Given the description of an element on the screen output the (x, y) to click on. 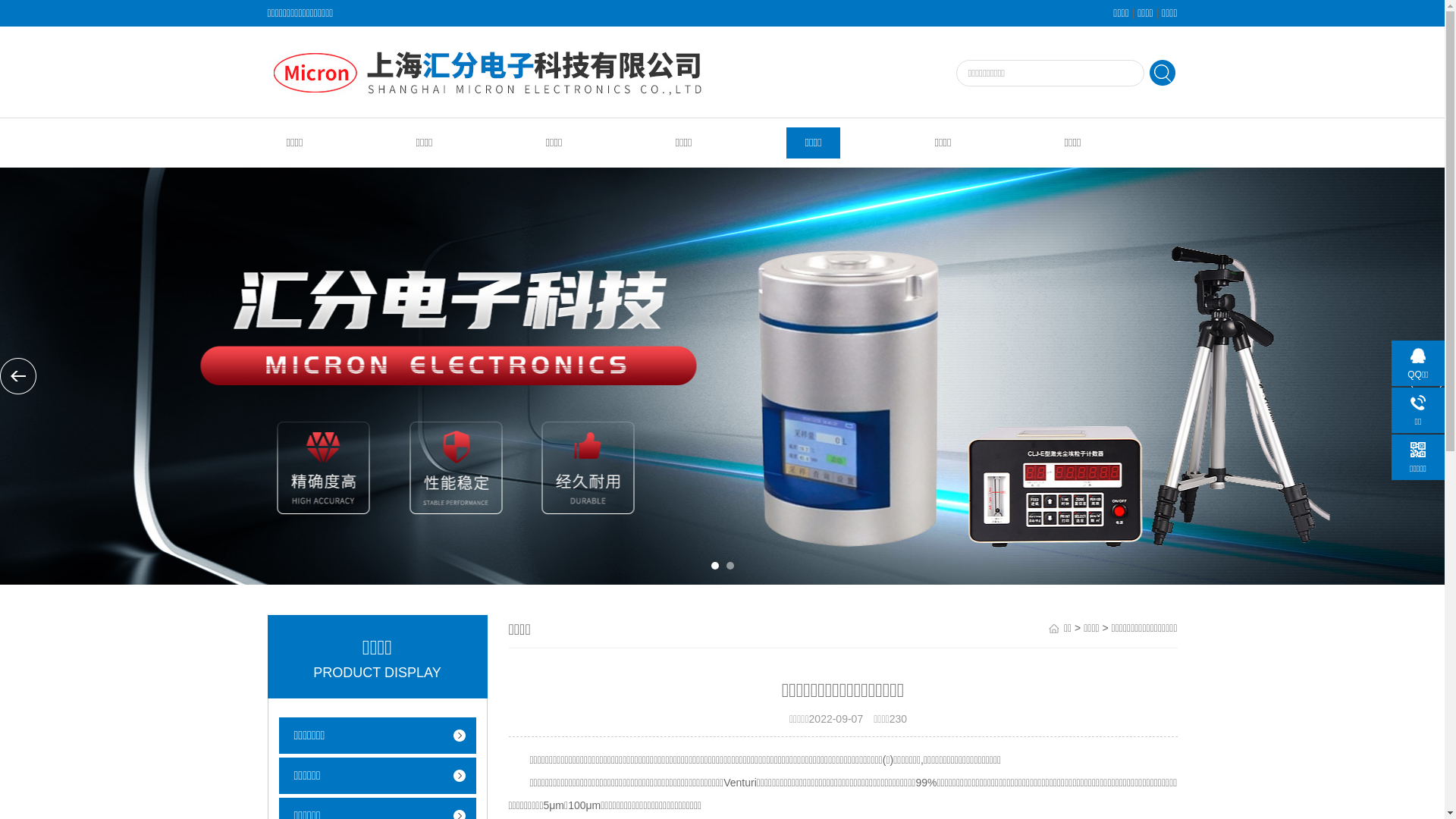
  Element type: text (1163, 73)
